Given the description of an element on the screen output the (x, y) to click on. 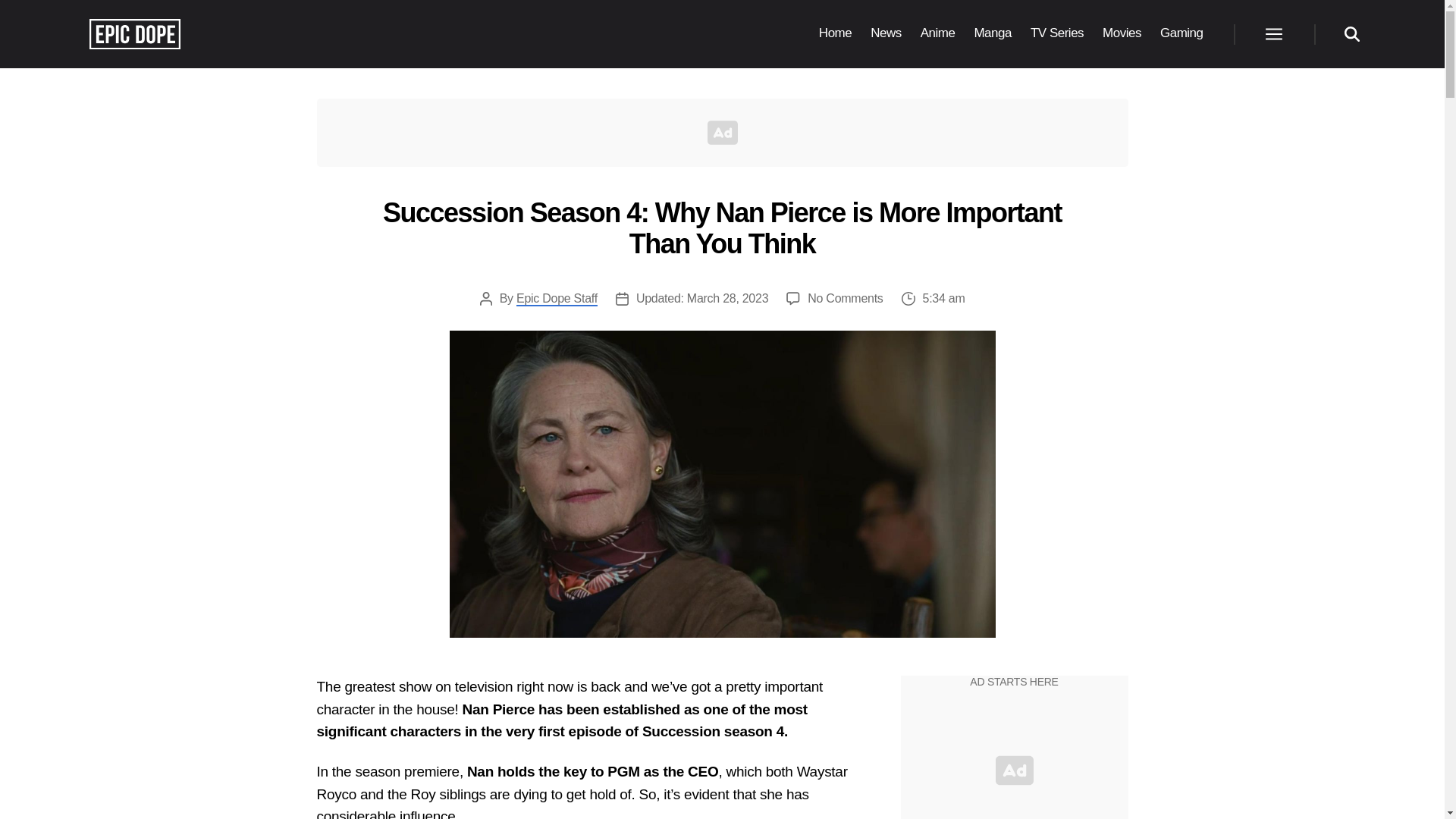
Gaming (1182, 33)
Manga (992, 33)
Epic Dope Staff (556, 298)
Search (1351, 33)
Movies (1121, 33)
Menu (1273, 33)
News (885, 33)
Anime (937, 33)
TV Series (1056, 33)
Home (834, 33)
